Given the description of an element on the screen output the (x, y) to click on. 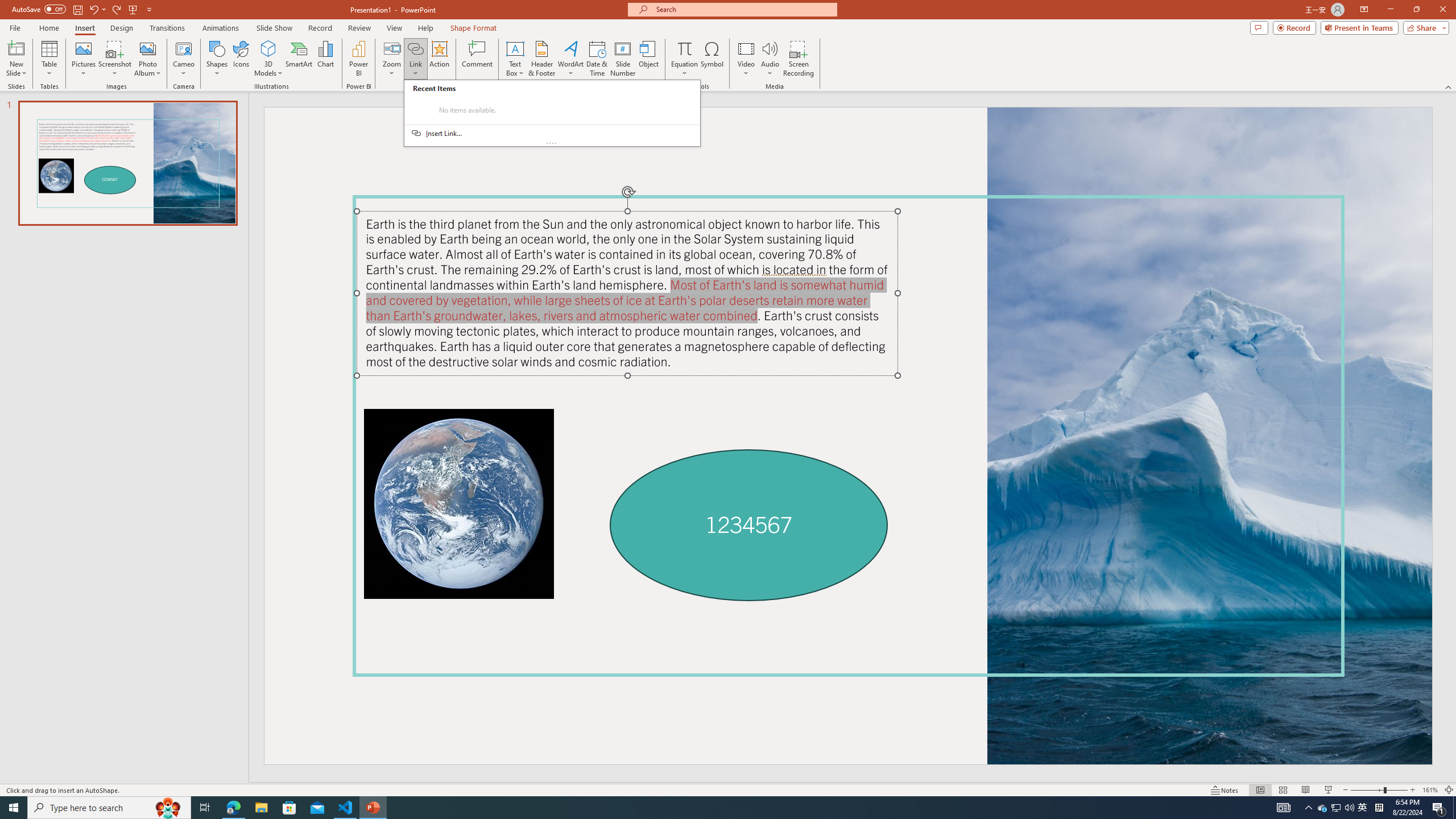
WordArt (570, 58)
